Given the description of an element on the screen output the (x, y) to click on. 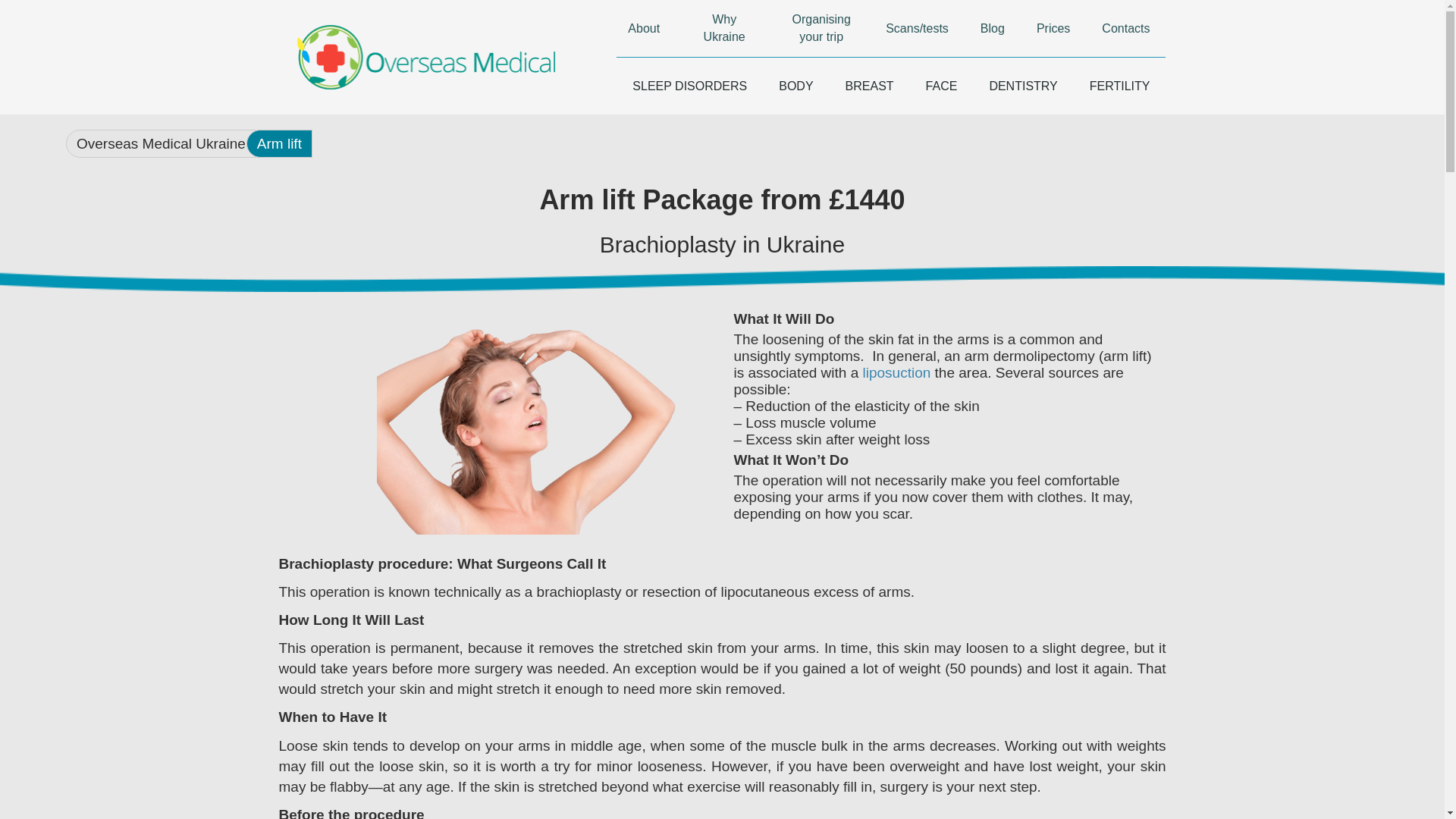
Why Ukraine (724, 28)
Organising your trip (821, 28)
About (643, 28)
BREAST (869, 85)
Blog (991, 28)
Contacts (1126, 28)
Go to Overseas Medical Ukraine. (165, 143)
BODY (795, 85)
Prices (1053, 28)
SLEEP DISORDERS (688, 85)
